Given the description of an element on the screen output the (x, y) to click on. 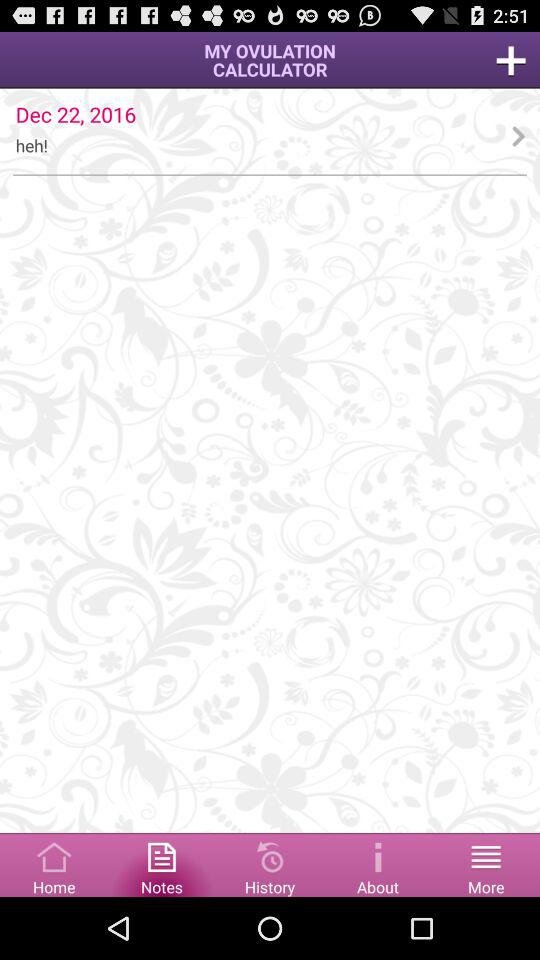
go to the home (54, 864)
